Given the description of an element on the screen output the (x, y) to click on. 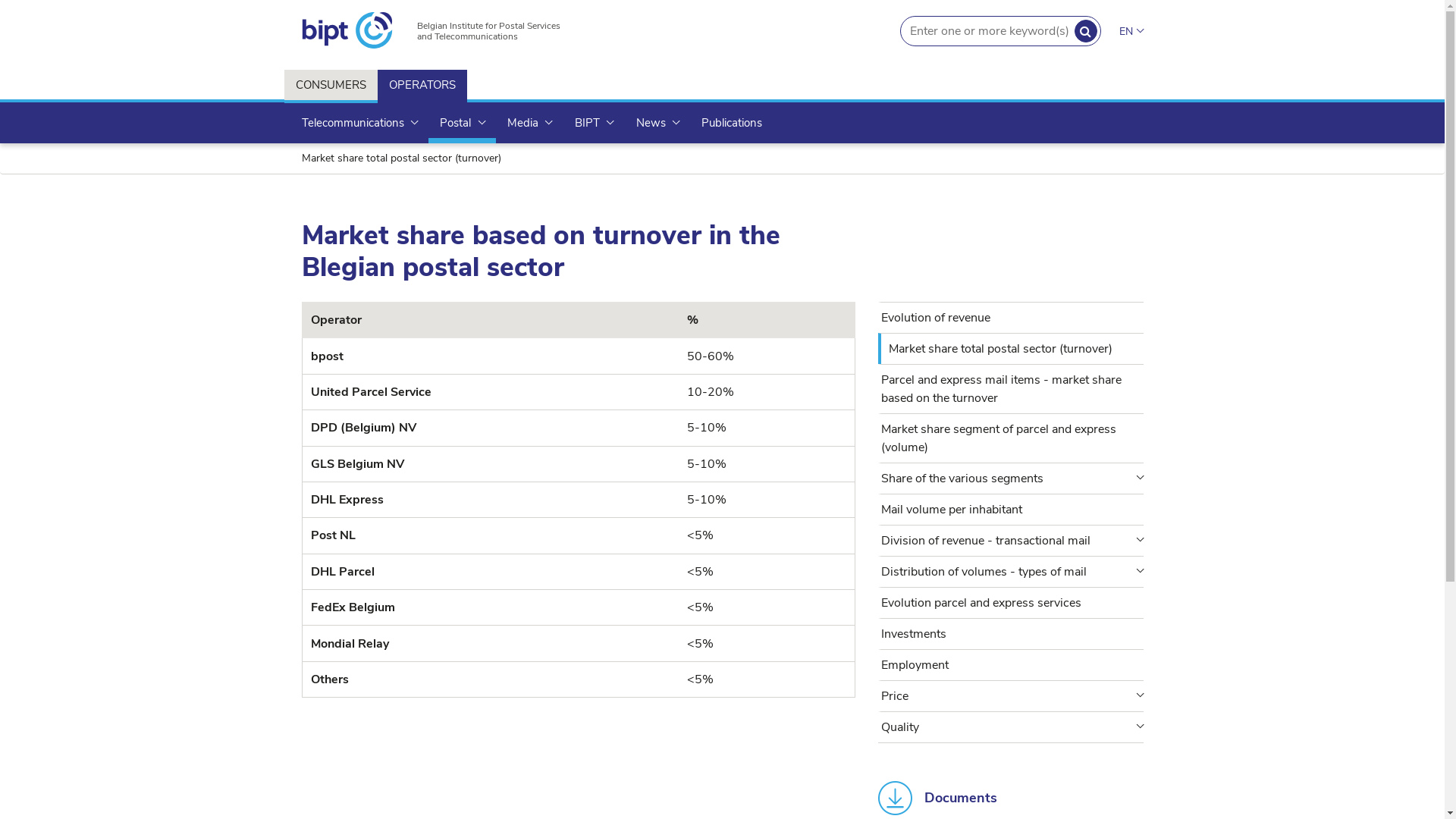
Media Element type: text (529, 122)
Evolution parcel and express services Element type: text (1012, 602)
Investments Element type: text (1012, 633)
News Element type: text (657, 122)
OPERATORS Element type: text (422, 86)
Price Element type: text (1012, 695)
Share of the various segments Element type: text (1012, 478)
search.button Element type: text (1085, 30)
Postal Element type: text (461, 122)
Telecommunications Element type: text (358, 122)
CONSUMERS Element type: text (329, 86)
Quality Element type: text (1012, 727)
Distribution of volumes - types of mail Element type: text (1012, 571)
BIPT Element type: text (593, 122)
Evolution of revenue Element type: text (1012, 317)
Market share segment of parcel and express (volume) Element type: text (1012, 438)
Mail volume per inhabitant Element type: text (1012, 509)
Division of revenue - transactional mail Element type: text (1012, 540)
EN Element type: text (1131, 31)
Publications Element type: text (731, 122)
Employment Element type: text (1012, 664)
